Given the description of an element on the screen output the (x, y) to click on. 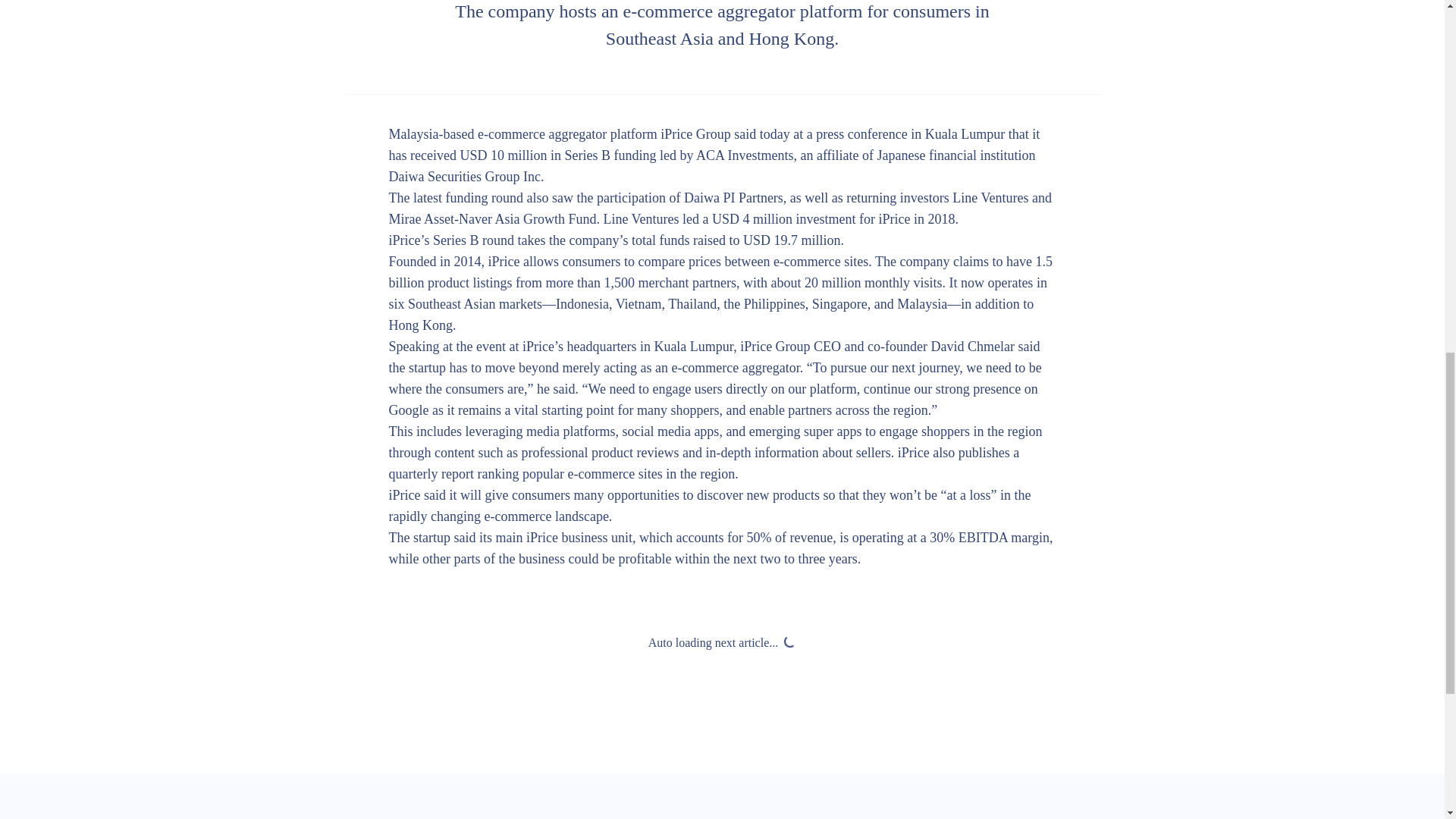
iPrice Group (695, 133)
